Given the description of an element on the screen output the (x, y) to click on. 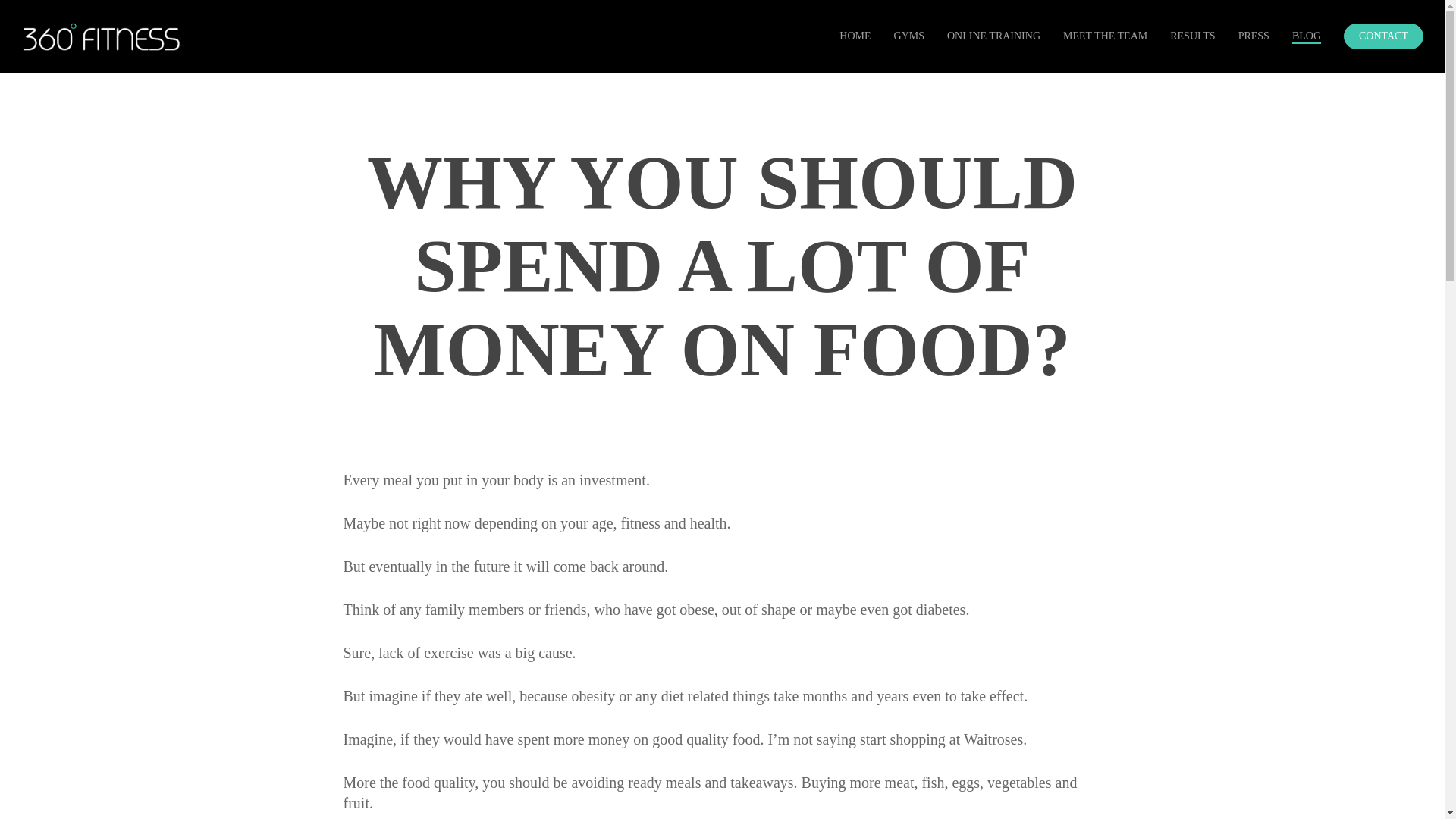
PRESS (1254, 36)
CONTACT (1383, 36)
RESULTS (1192, 36)
BLOG (1306, 36)
MEET THE TEAM (1104, 36)
GYMS (908, 36)
HOME (855, 36)
ONLINE TRAINING (994, 36)
